Given the description of an element on the screen output the (x, y) to click on. 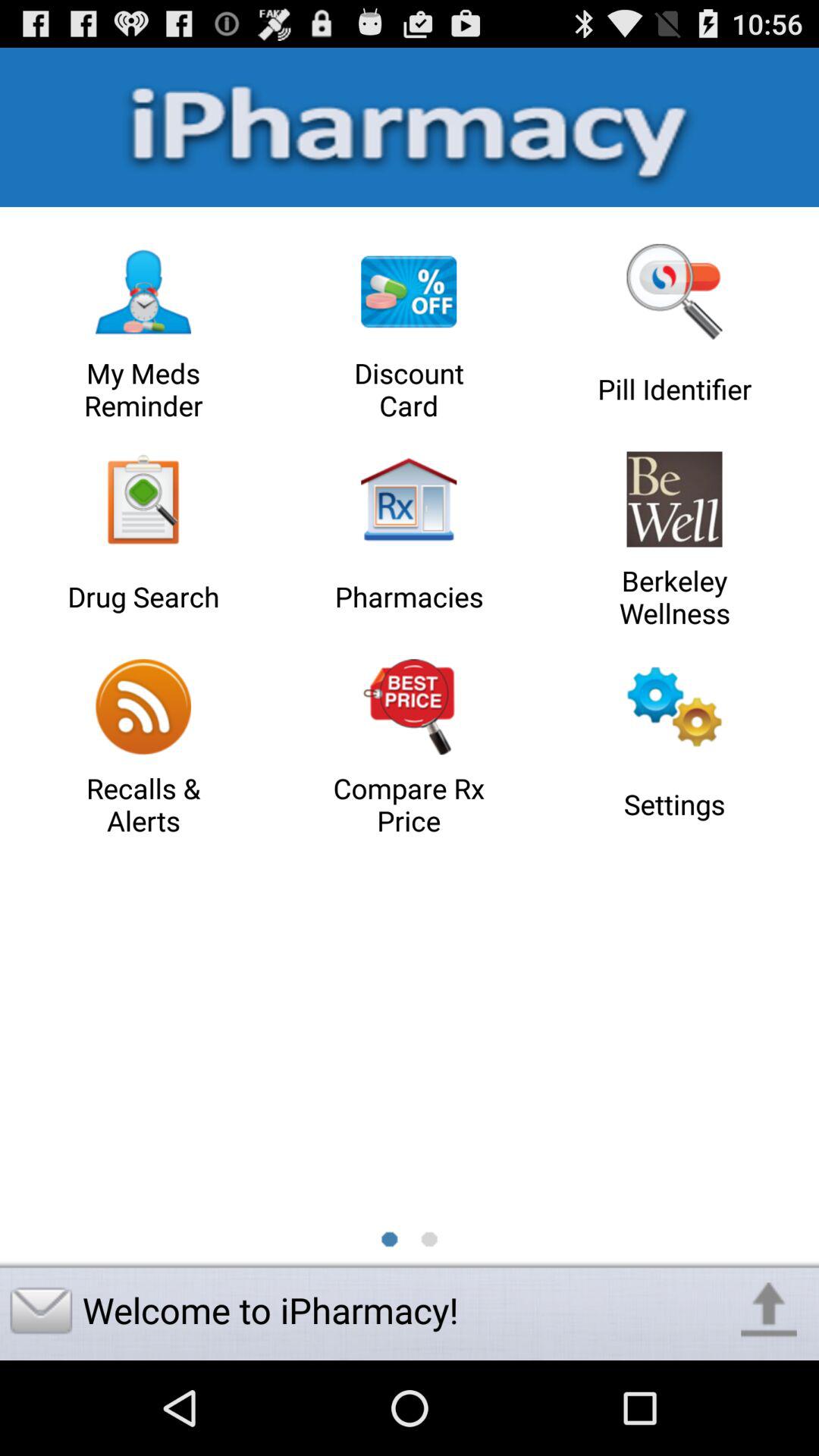
select to upload (768, 1310)
